Given the description of an element on the screen output the (x, y) to click on. 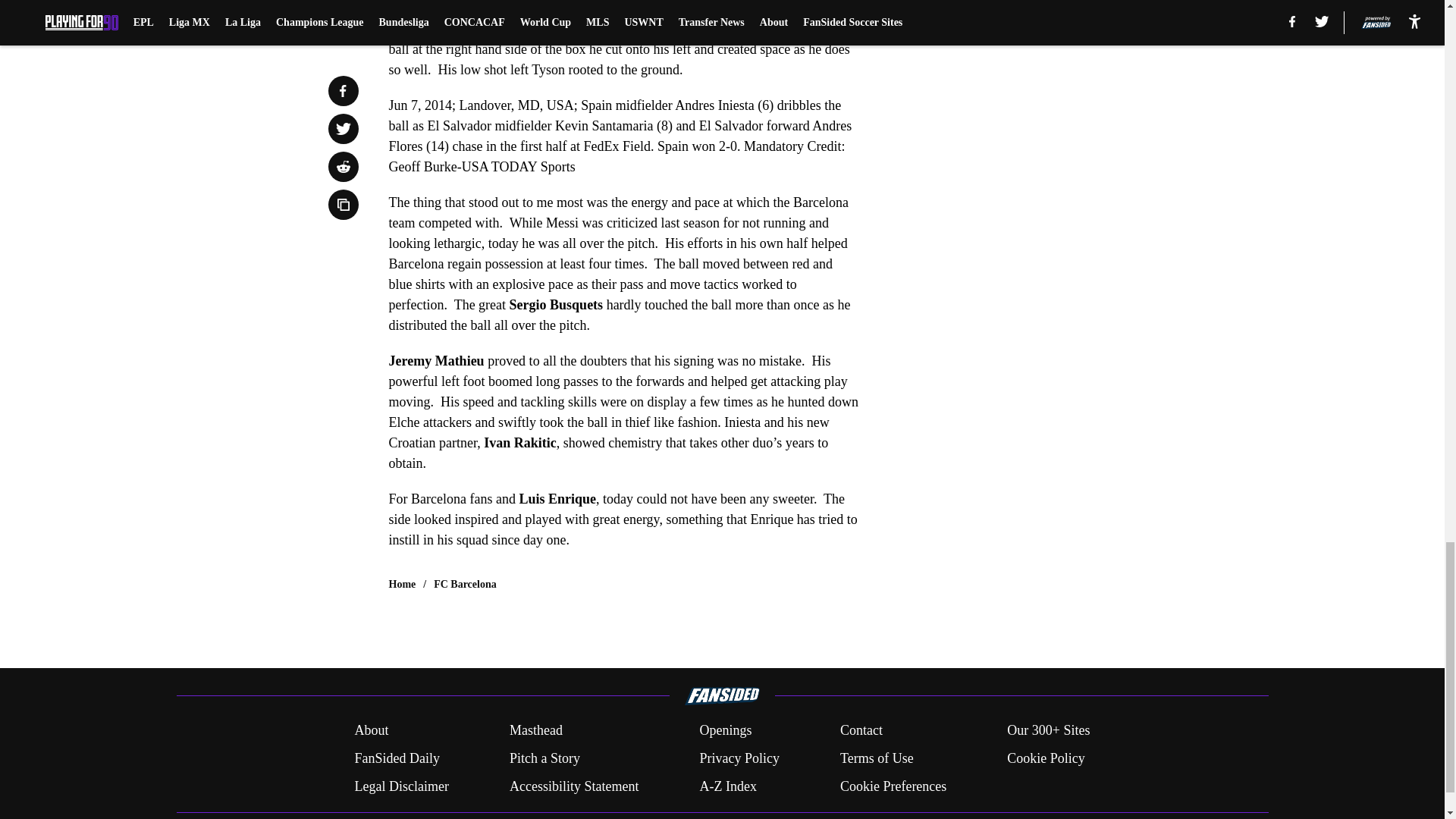
Contact (861, 730)
FanSided Daily (396, 758)
Privacy Policy (738, 758)
Terms of Use (877, 758)
Home (401, 584)
FC Barcelona (464, 584)
Masthead (535, 730)
Pitch a Story (544, 758)
About (370, 730)
Openings (724, 730)
